Given the description of an element on the screen output the (x, y) to click on. 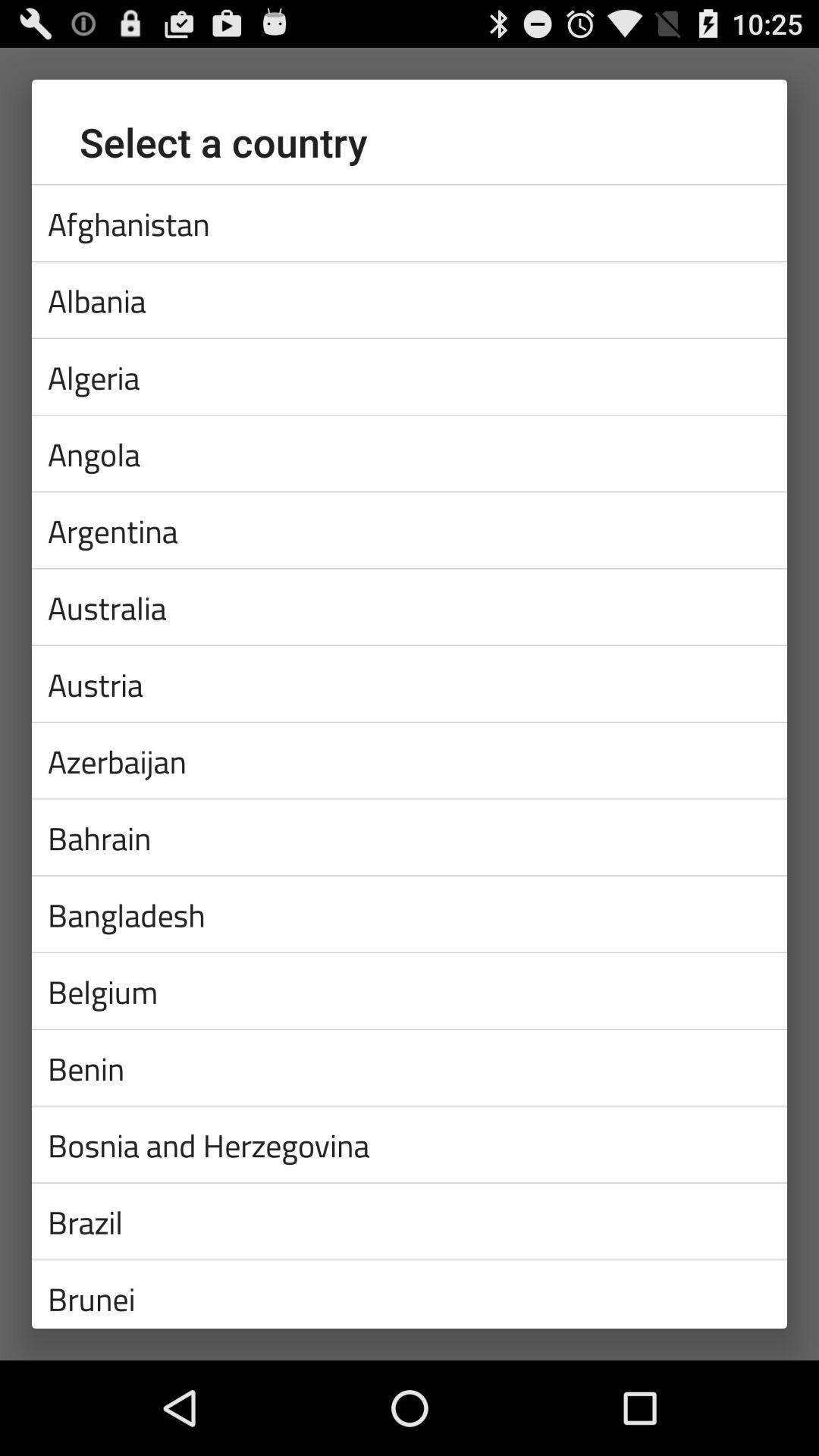
jump to argentina (409, 530)
